Given the description of an element on the screen output the (x, y) to click on. 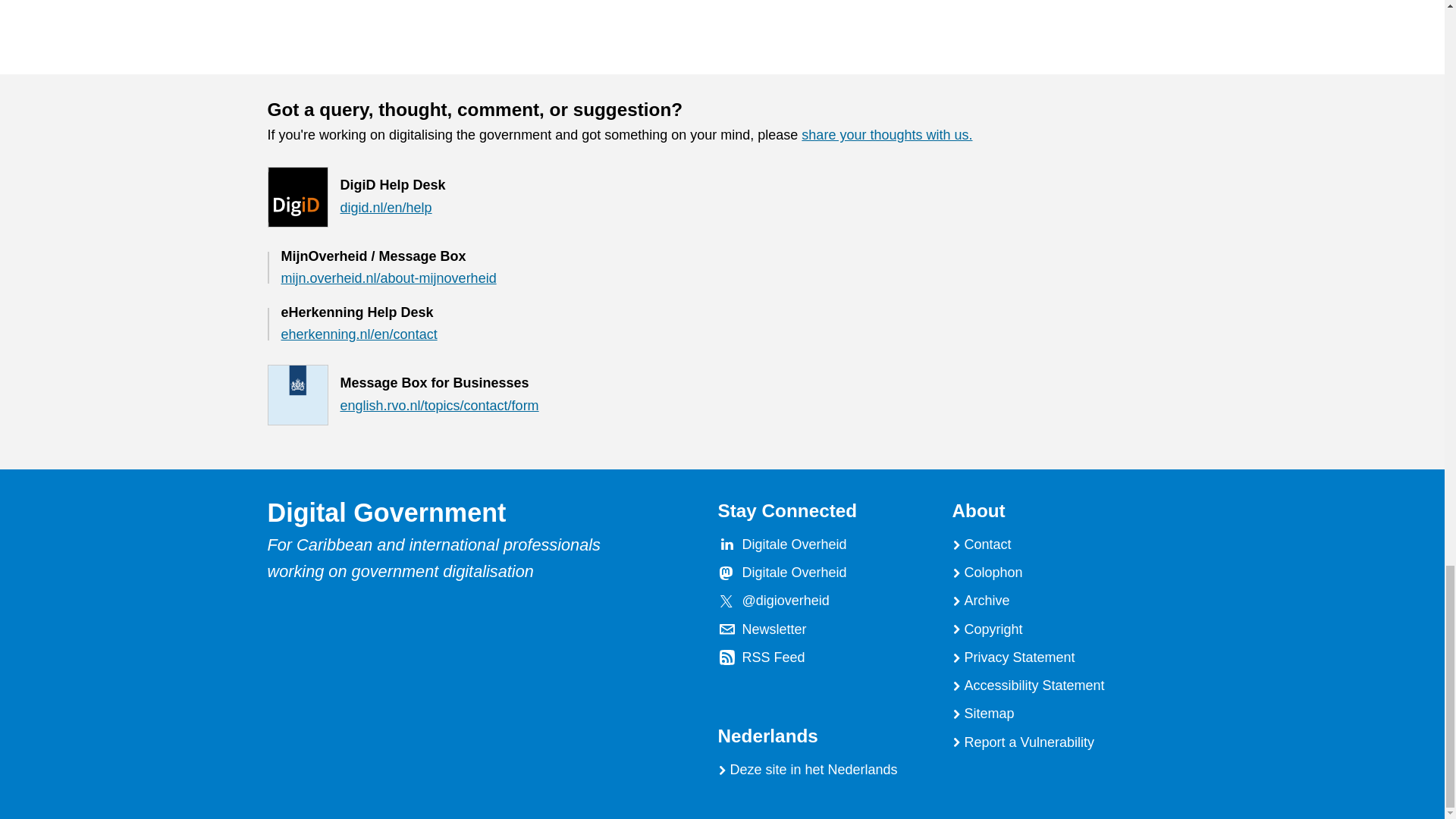
share your thoughts with us. (887, 134)
Digitale Overheid (793, 572)
Digitale Overheid (793, 544)
